Given the description of an element on the screen output the (x, y) to click on. 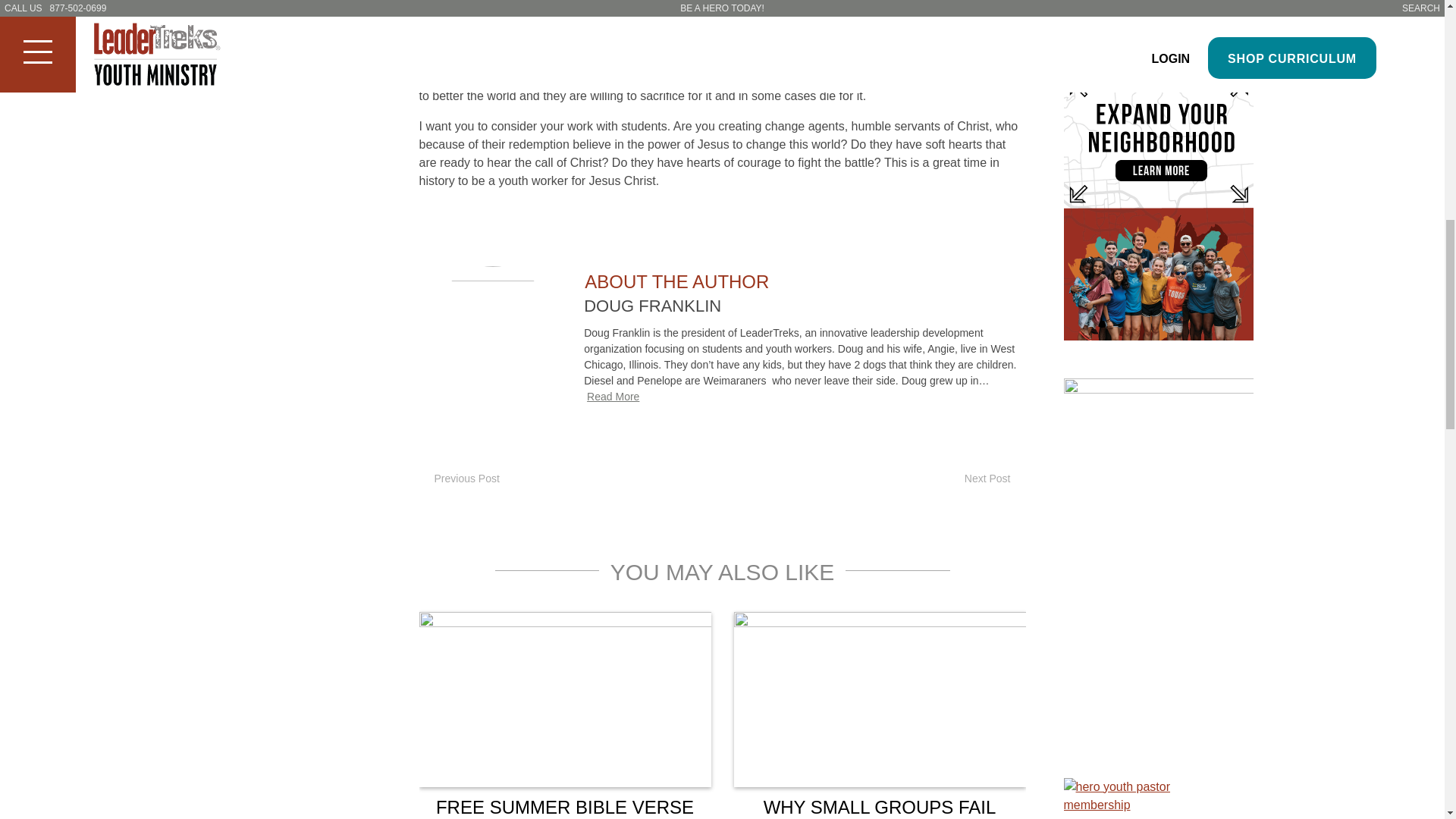
Why Small Groups Fail (879, 699)
FREE summer bible Verse PACK (564, 699)
FREE SUMMER BIBLE VERSE PACK (564, 807)
Read More (612, 396)
Next Post (994, 478)
Previous Post (459, 478)
WHY SMALL GROUPS FAIL (878, 806)
